Given the description of an element on the screen output the (x, y) to click on. 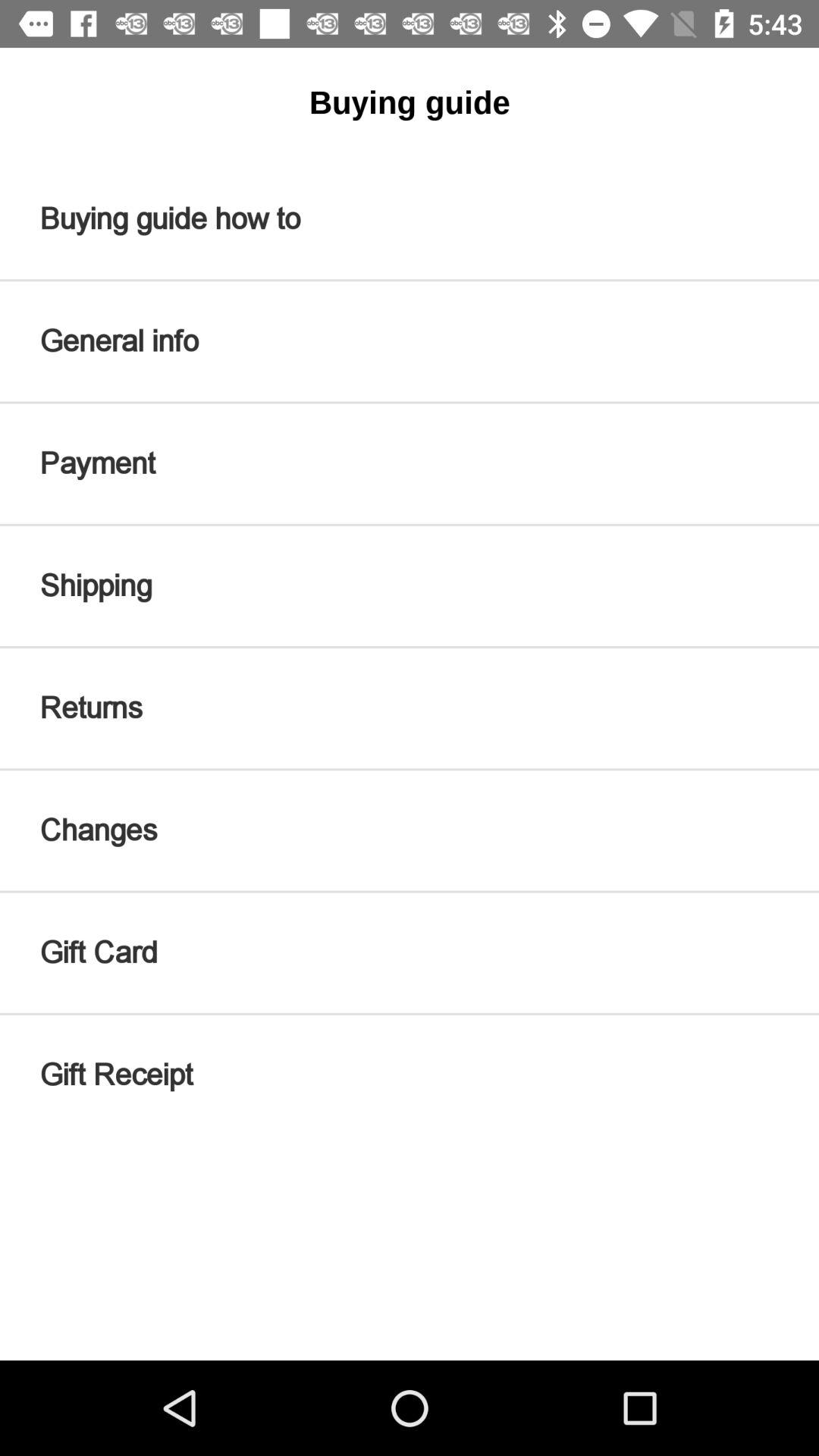
select the item below the gift card (409, 1075)
